Given the description of an element on the screen output the (x, y) to click on. 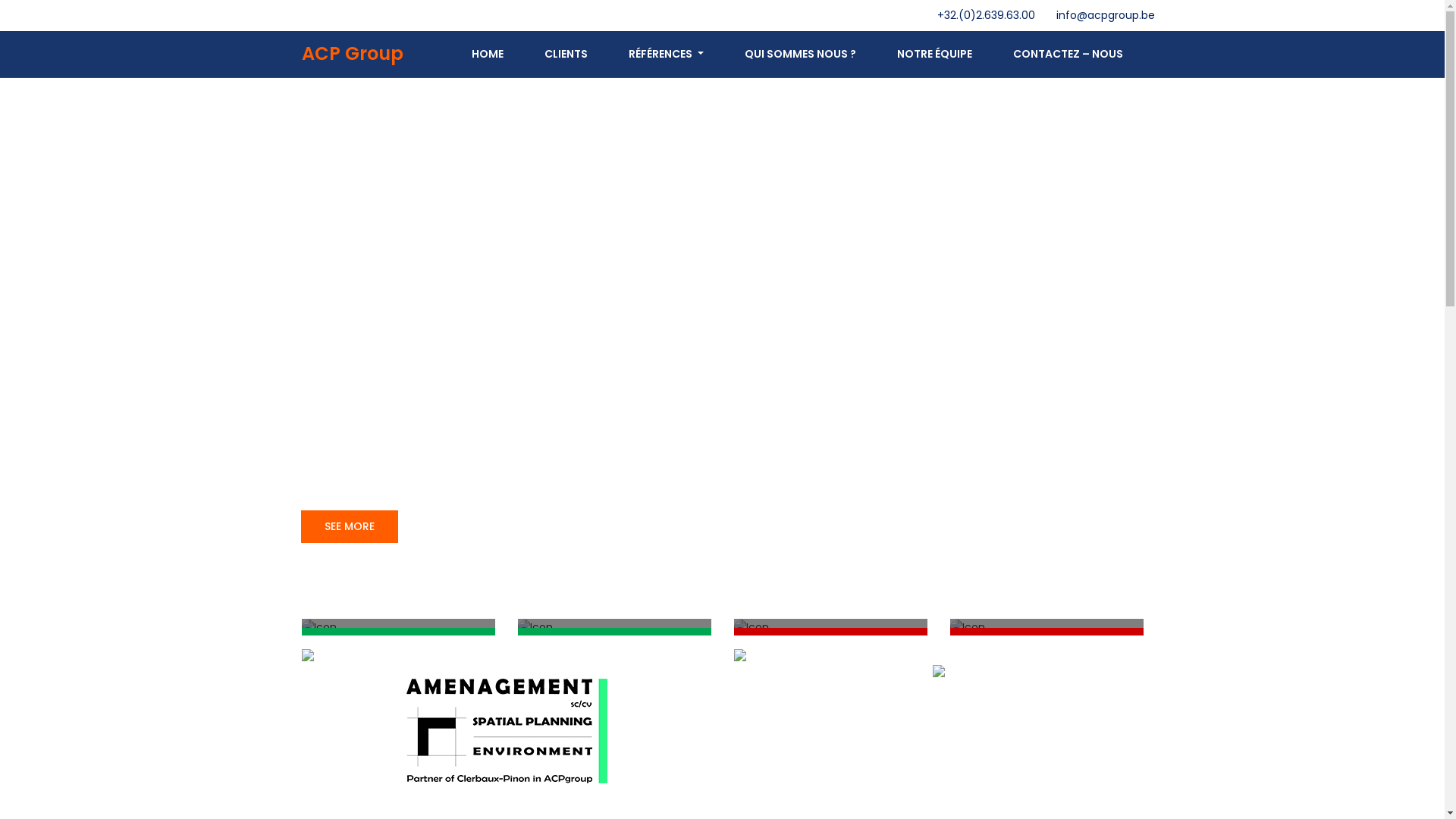
info@acpgroup.be Element type: text (1104, 14)
+32.(0)2.639.63.00 Element type: text (986, 14)
ACP Group Element type: text (352, 54)
CLIENTS Element type: text (565, 54)
SEE MORE Element type: text (348, 526)
HOME Element type: text (487, 54)
QUI SOMMES NOUS ? Element type: text (799, 54)
